Given the description of an element on the screen output the (x, y) to click on. 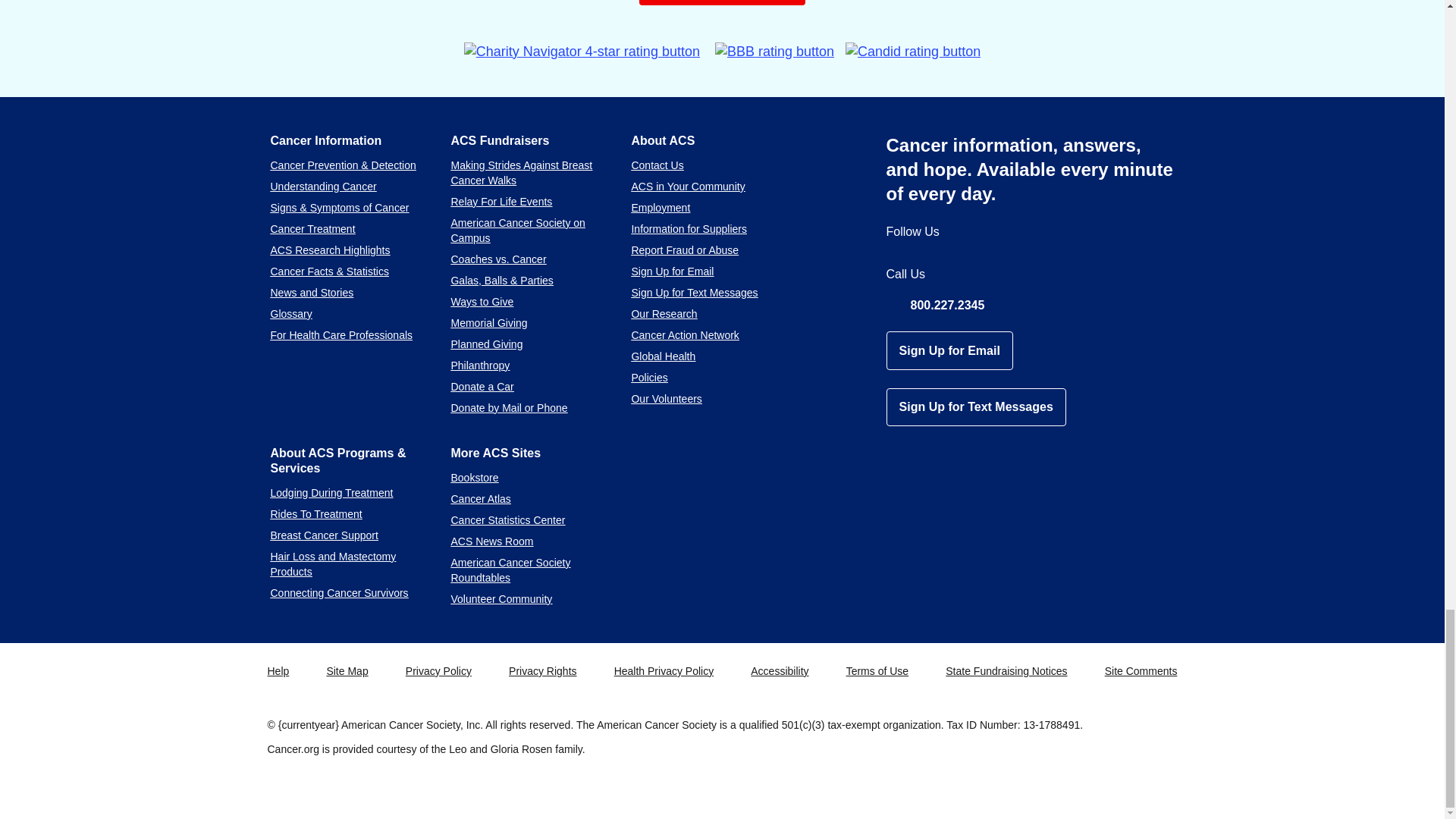
ACS Research Highlights (329, 250)
Cancer Treatment (312, 228)
Understanding Cancer (322, 186)
